Given the description of an element on the screen output the (x, y) to click on. 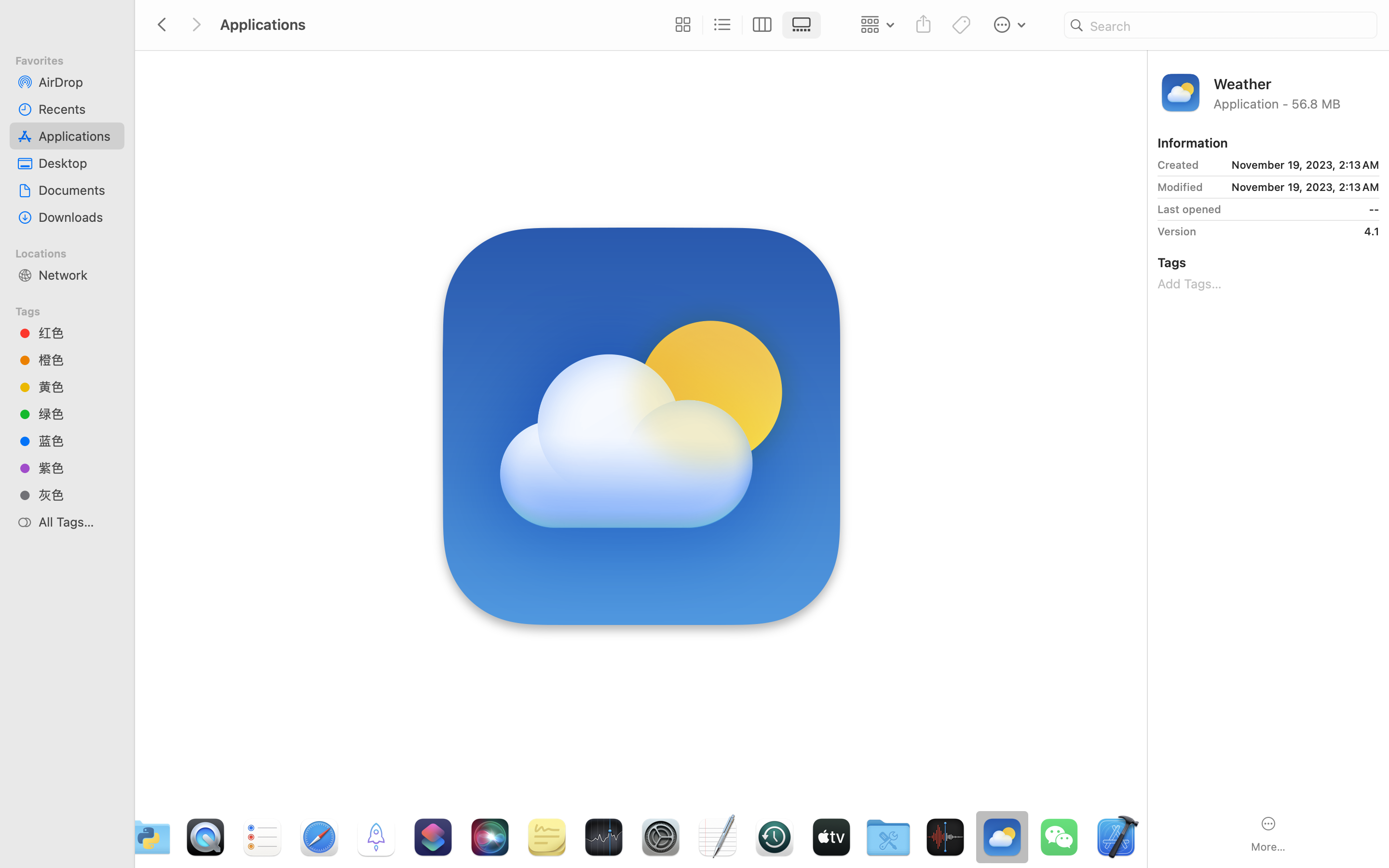
Favorites Element type: AXStaticText (72, 59)
0 Element type: AXRadioButton (680, 24)
1 Element type: AXRadioButton (804, 24)
绿色 Element type: AXStaticText (77, 413)
All Tags… Element type: AXStaticText (77, 521)
